Given the description of an element on the screen output the (x, y) to click on. 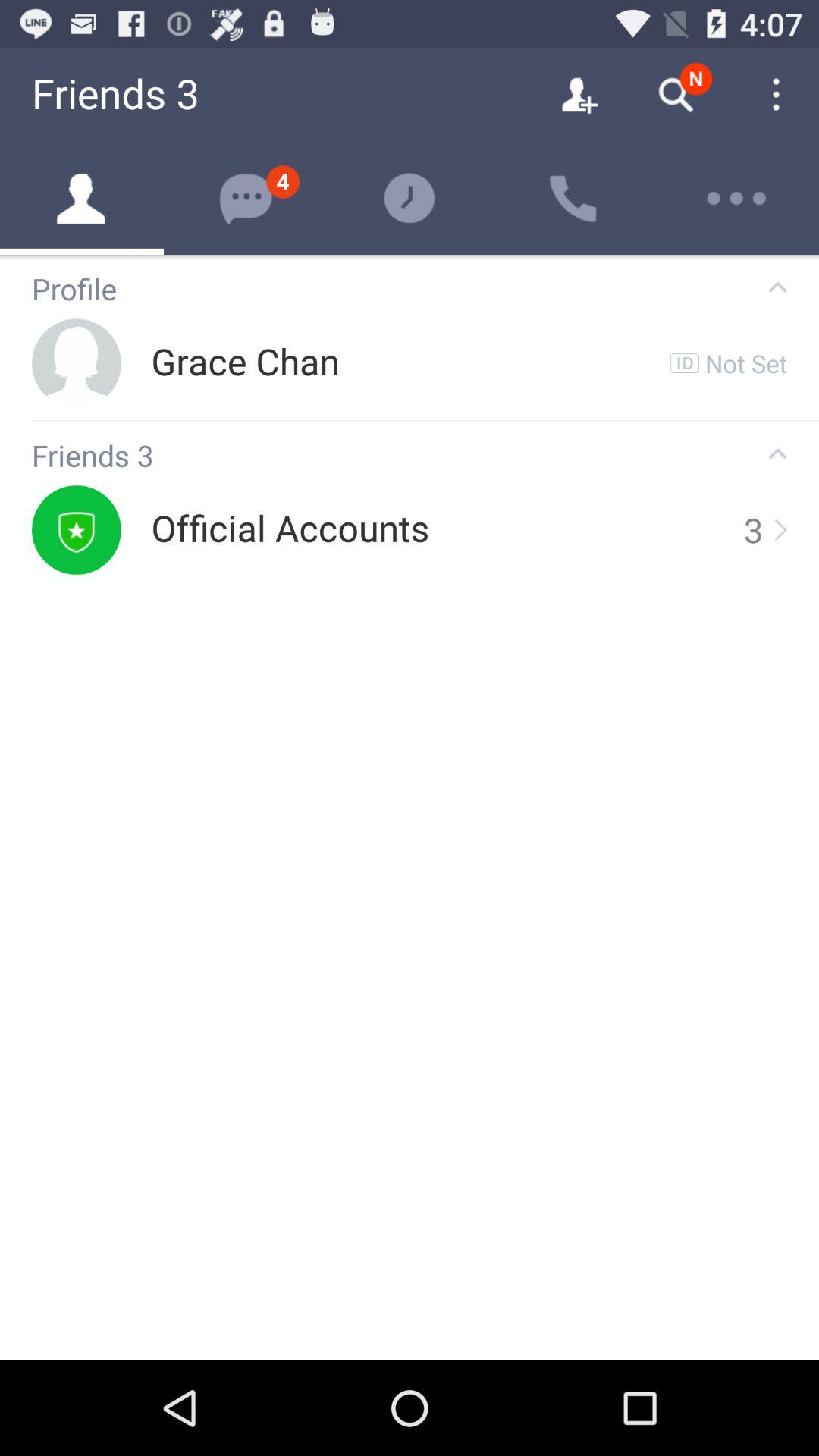
jump until the not set (746, 362)
